Given the description of an element on the screen output the (x, y) to click on. 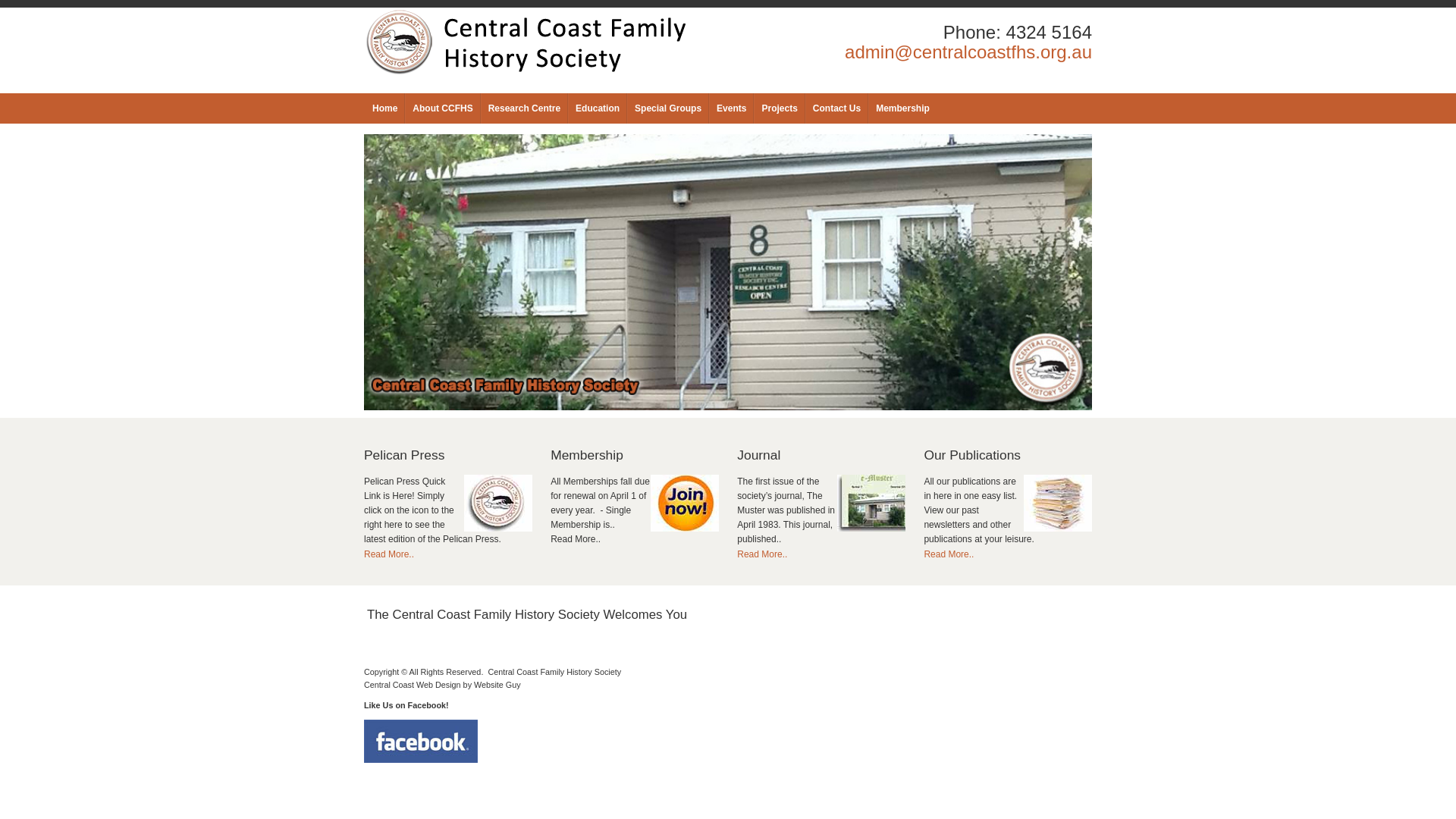
Education Element type: text (597, 108)
Read More.. Element type: text (762, 554)
Read More.. Element type: text (948, 554)
Events Element type: text (731, 108)
Home Element type: text (384, 108)
Contact Us Element type: text (836, 108)
Projects Element type: text (778, 108)
admin@centralcoastfhs.org.au Element type: text (968, 51)
About CCFHS Element type: text (442, 108)
Membership Element type: text (902, 108)
Research Centre Element type: text (524, 108)
Read More.. Element type: text (389, 554)
Special Groups Element type: text (667, 108)
